Given the description of an element on the screen output the (x, y) to click on. 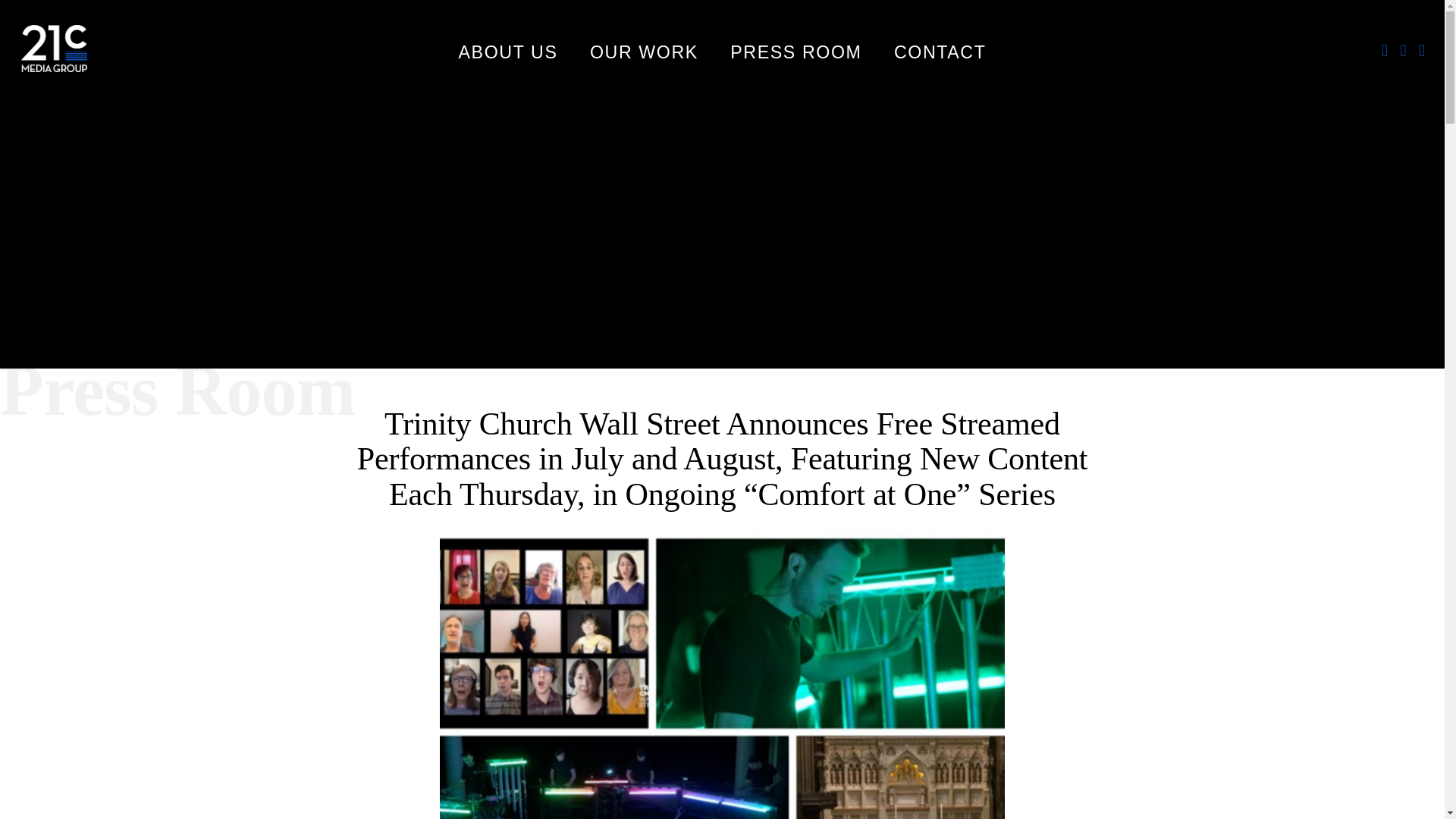
ABOUT US (507, 55)
OUR WORK (643, 55)
CONTACT (940, 55)
PRESS ROOM (795, 55)
